Given the description of an element on the screen output the (x, y) to click on. 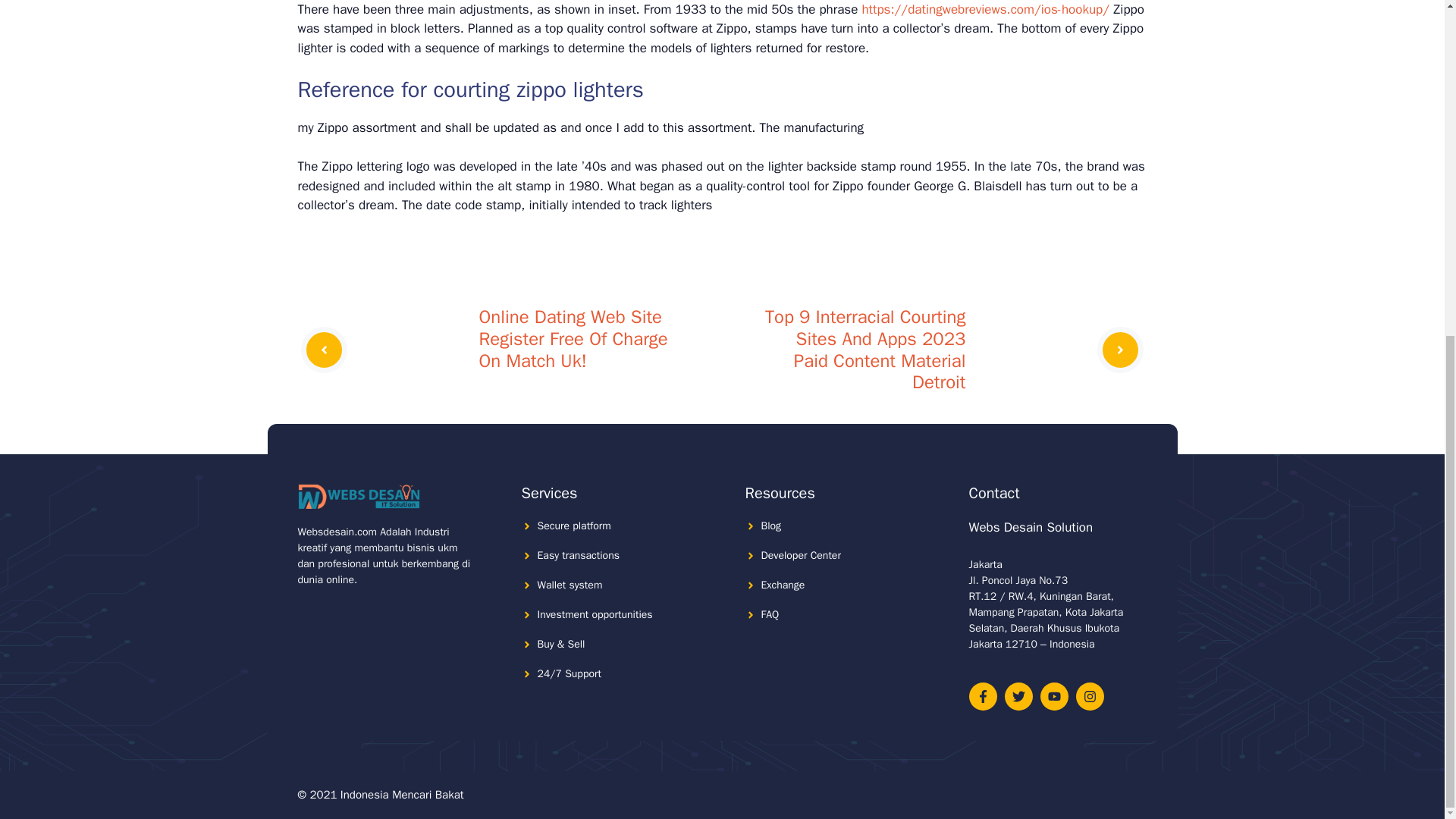
Exchange (783, 584)
FAQ (769, 614)
Online Dating Web Site Register Free Of Charge On Match Uk! (573, 338)
Investment (562, 614)
Secure platform (573, 525)
opportunities (621, 614)
Blog (771, 525)
Wallet system (569, 584)
Developer Center (801, 554)
Easy transactions (578, 554)
